Given the description of an element on the screen output the (x, y) to click on. 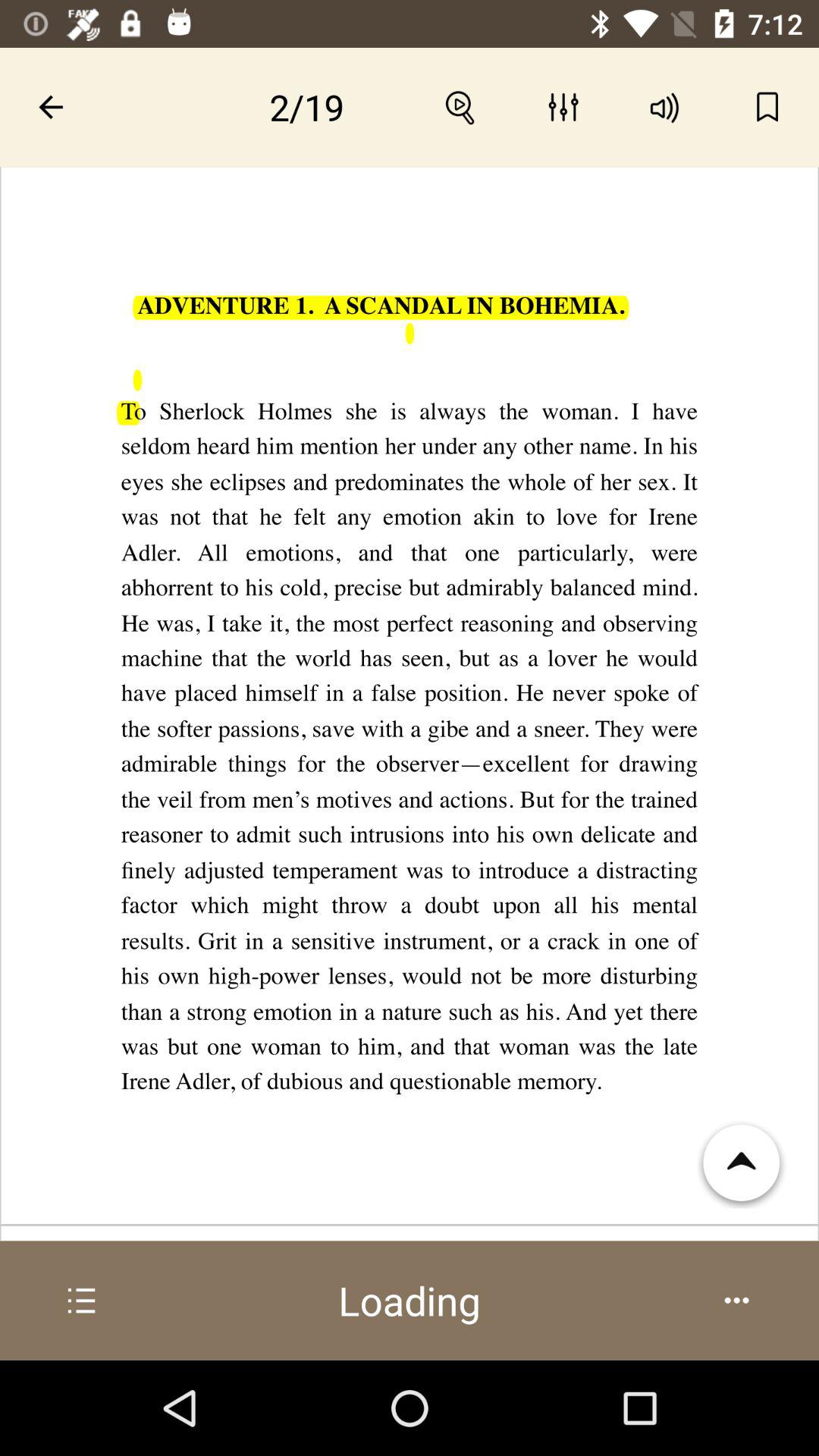
more info (81, 1300)
